Given the description of an element on the screen output the (x, y) to click on. 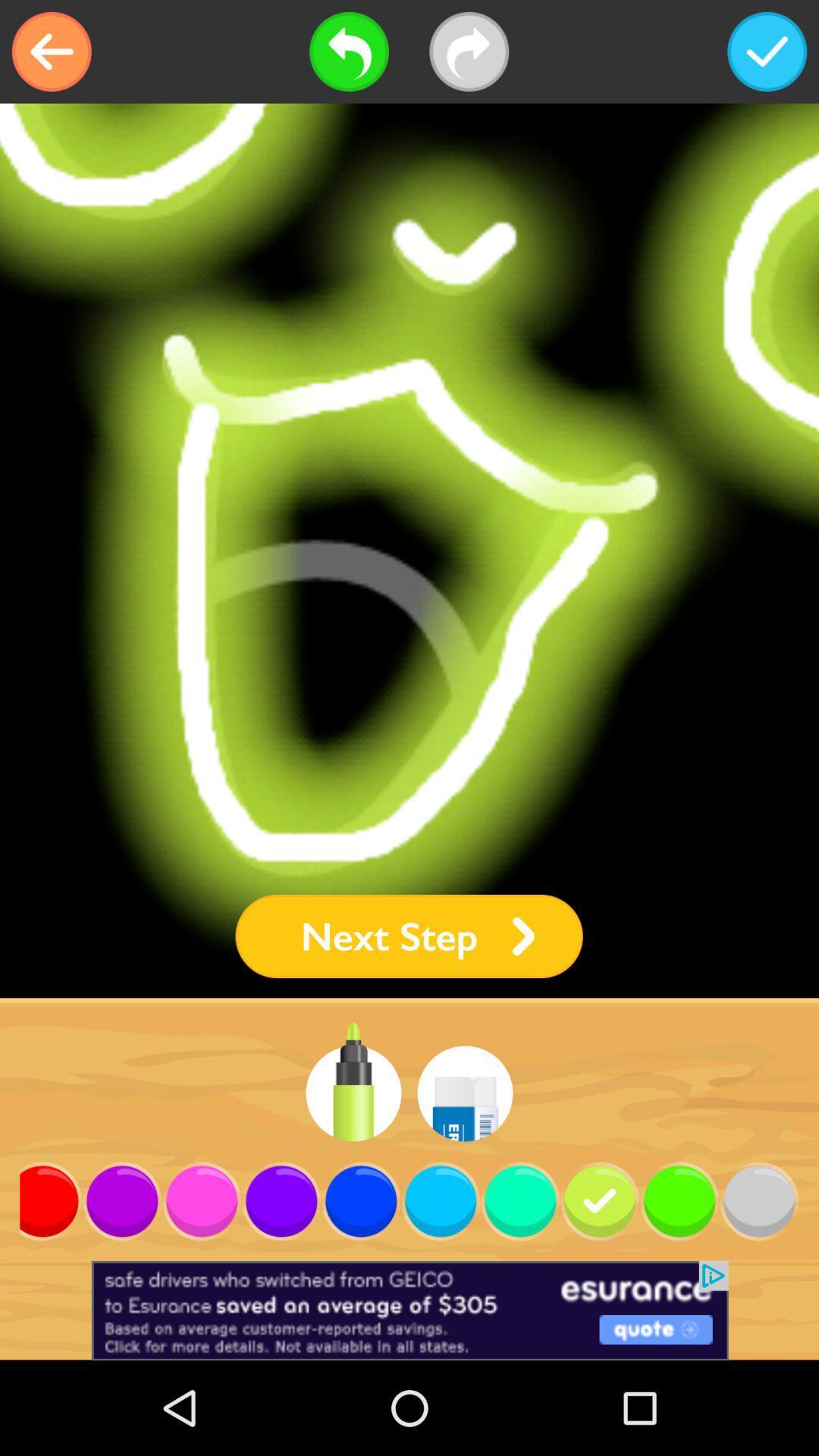
click next step icon (408, 936)
